Given the description of an element on the screen output the (x, y) to click on. 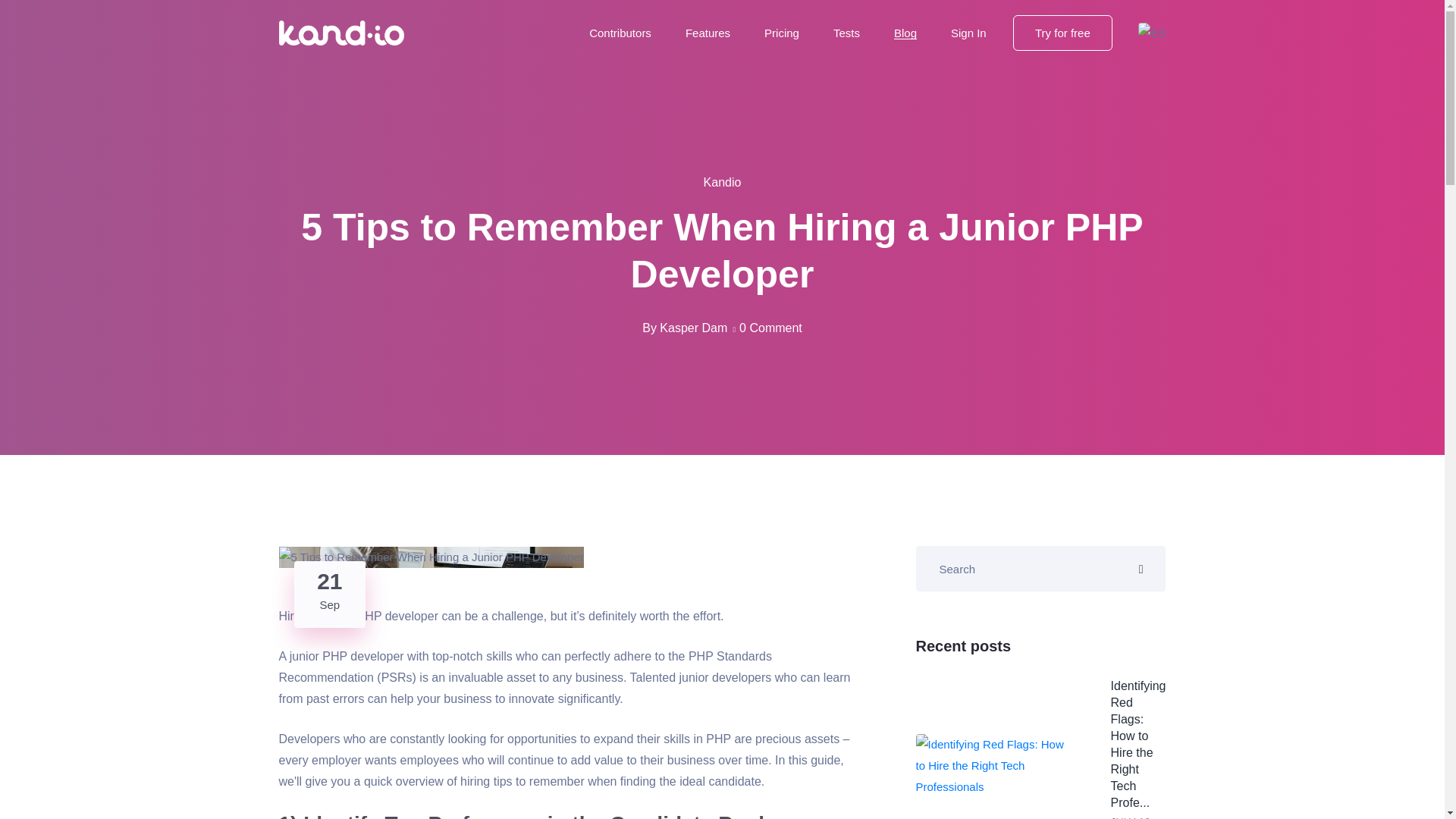
Pricing (330, 594)
0 Comment (781, 32)
Features (770, 327)
Tests (707, 32)
Sign In (846, 32)
Try for free (968, 32)
Blog (1062, 32)
Contributors (905, 32)
